Given the description of an element on the screen output the (x, y) to click on. 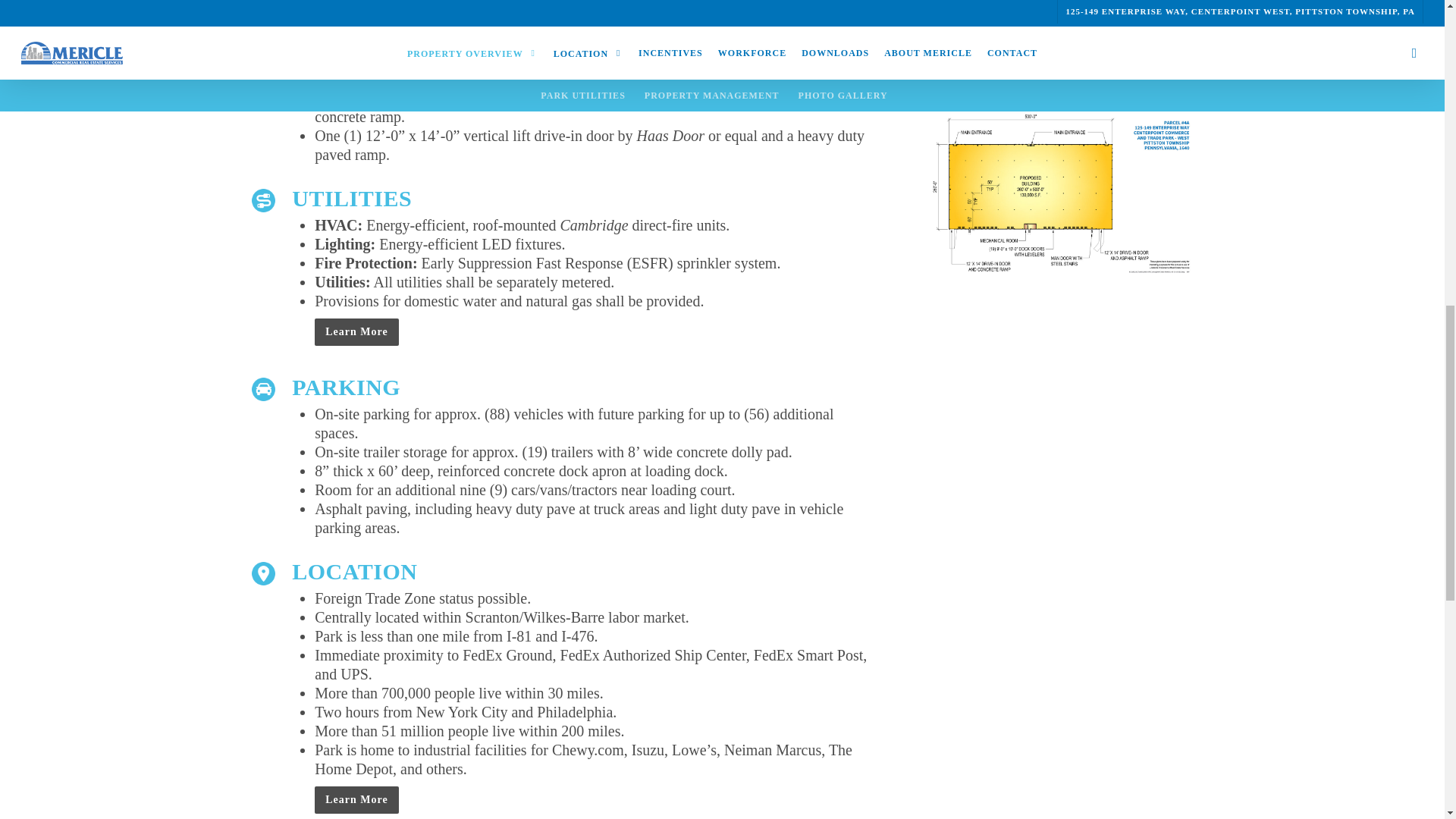
Learn More (355, 331)
Learn More (355, 800)
